Given the description of an element on the screen output the (x, y) to click on. 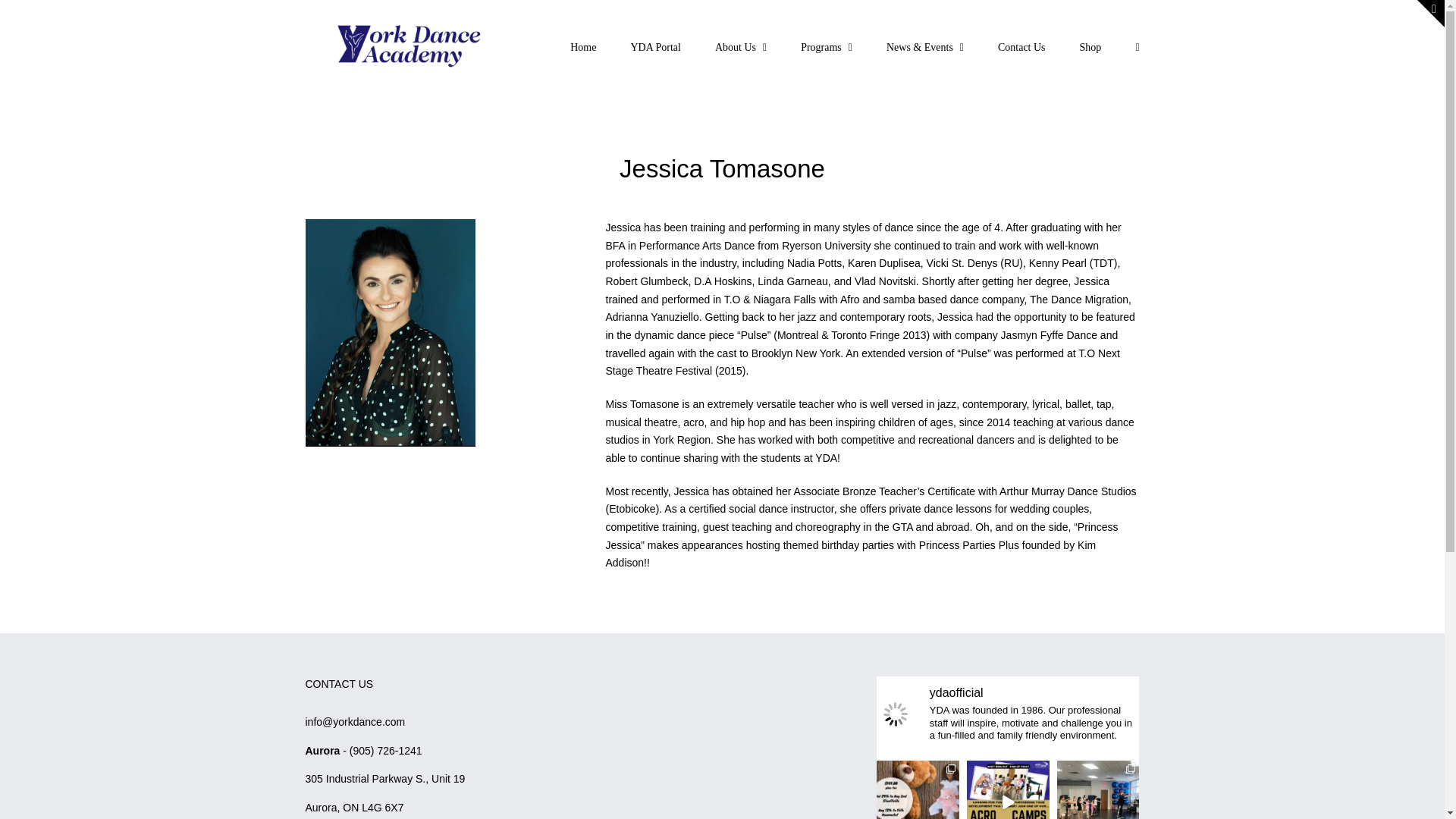
YDA Portal (655, 46)
Jessica head shot (389, 332)
Contact Us (1021, 46)
About Us (740, 46)
Home (582, 46)
Shop (1091, 46)
Programs (825, 46)
Jessica Tomasone (721, 176)
